Given the description of an element on the screen output the (x, y) to click on. 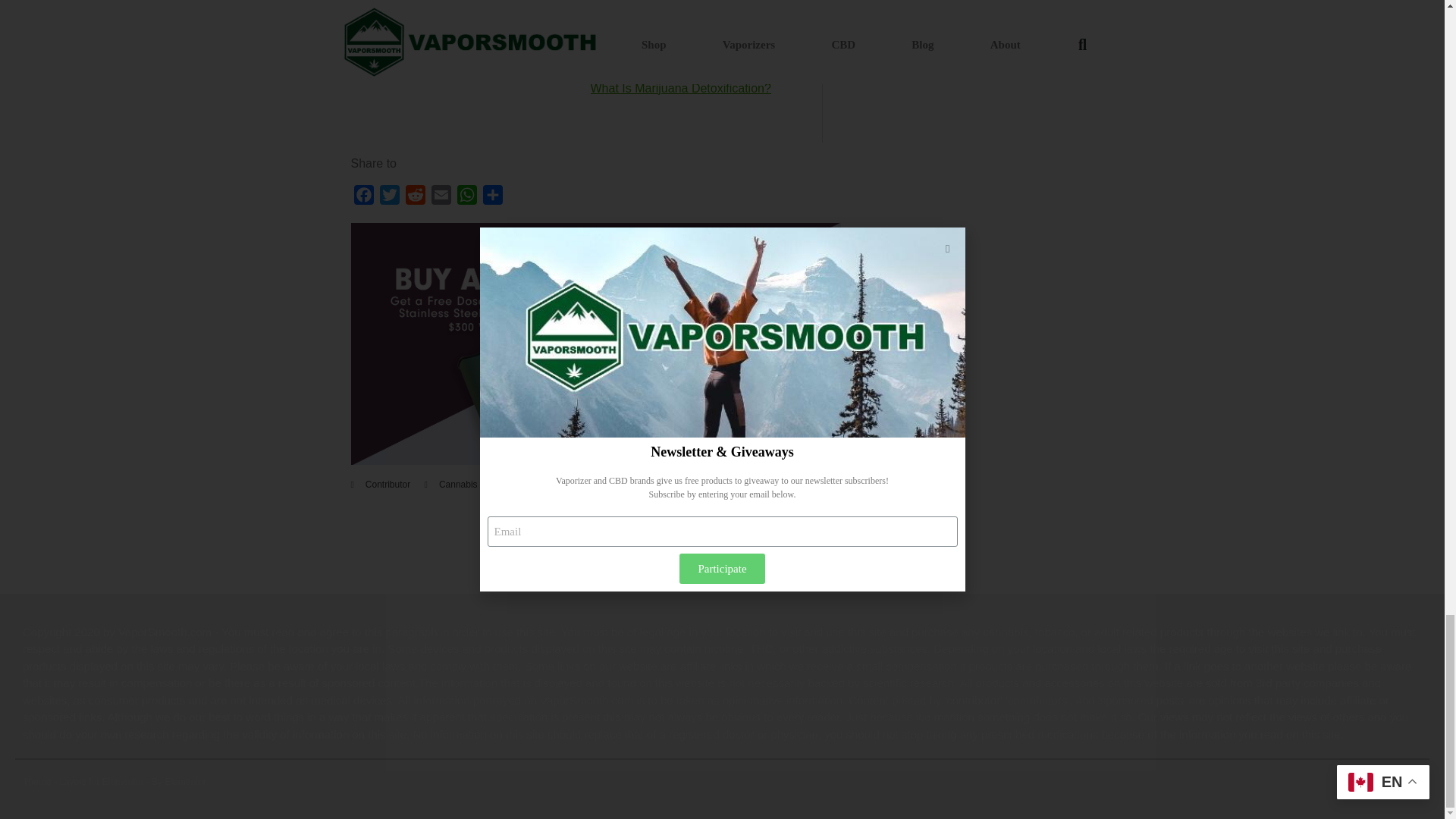
Davinci General (595, 460)
Email (440, 197)
Twitter (388, 197)
Reddit (414, 197)
Facebook (362, 197)
WhatsApp (465, 197)
View all posts by Contributor (387, 484)
View all posts in Cannabis Information (482, 484)
